Given the description of an element on the screen output the (x, y) to click on. 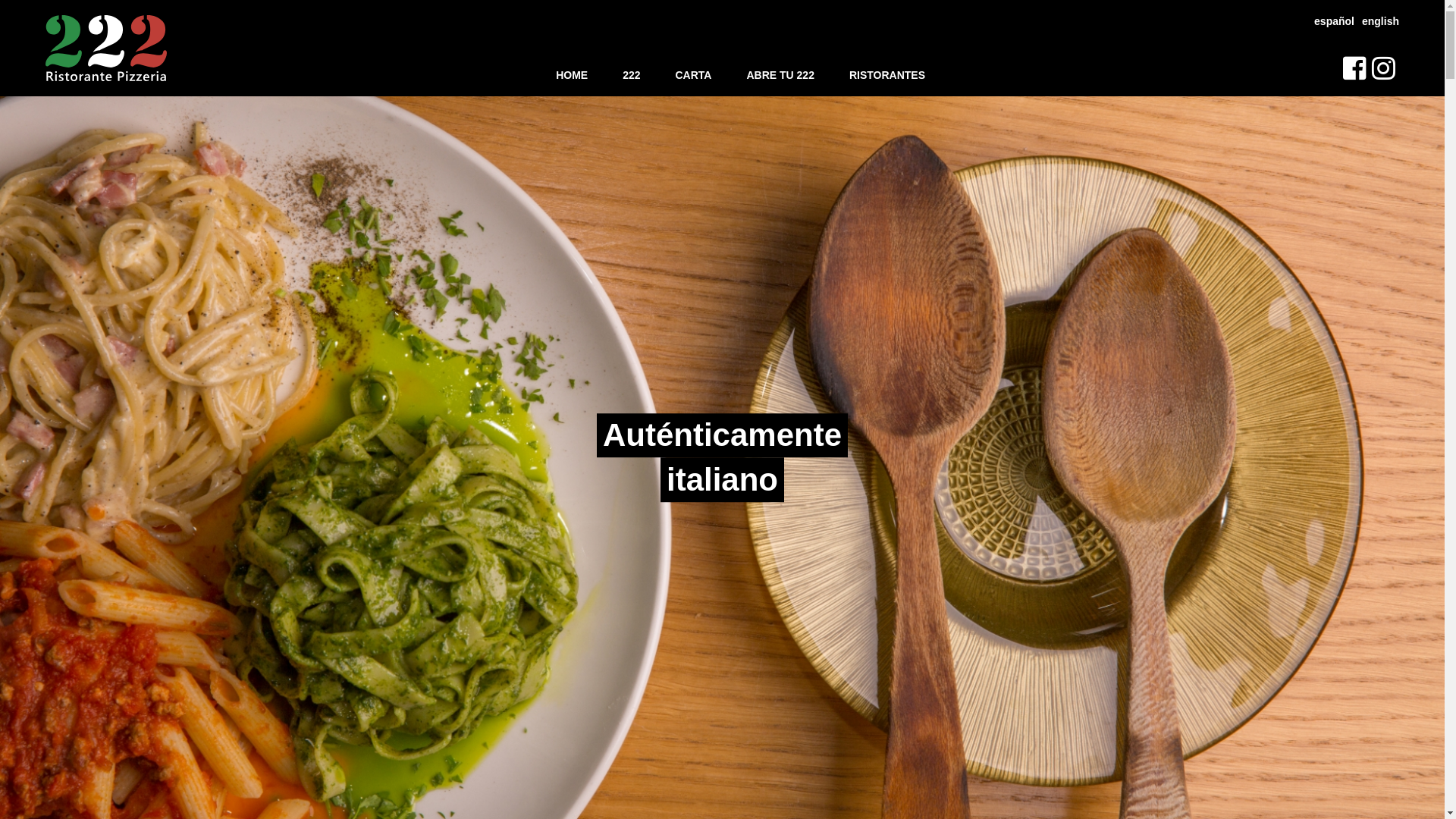
ABRE TU 222 Element type: text (779, 75)
RISTORANTES Element type: text (887, 75)
222 Element type: text (631, 75)
HOME Element type: text (571, 75)
english Element type: text (1380, 21)
CARTA Element type: text (692, 75)
